Given the description of an element on the screen output the (x, y) to click on. 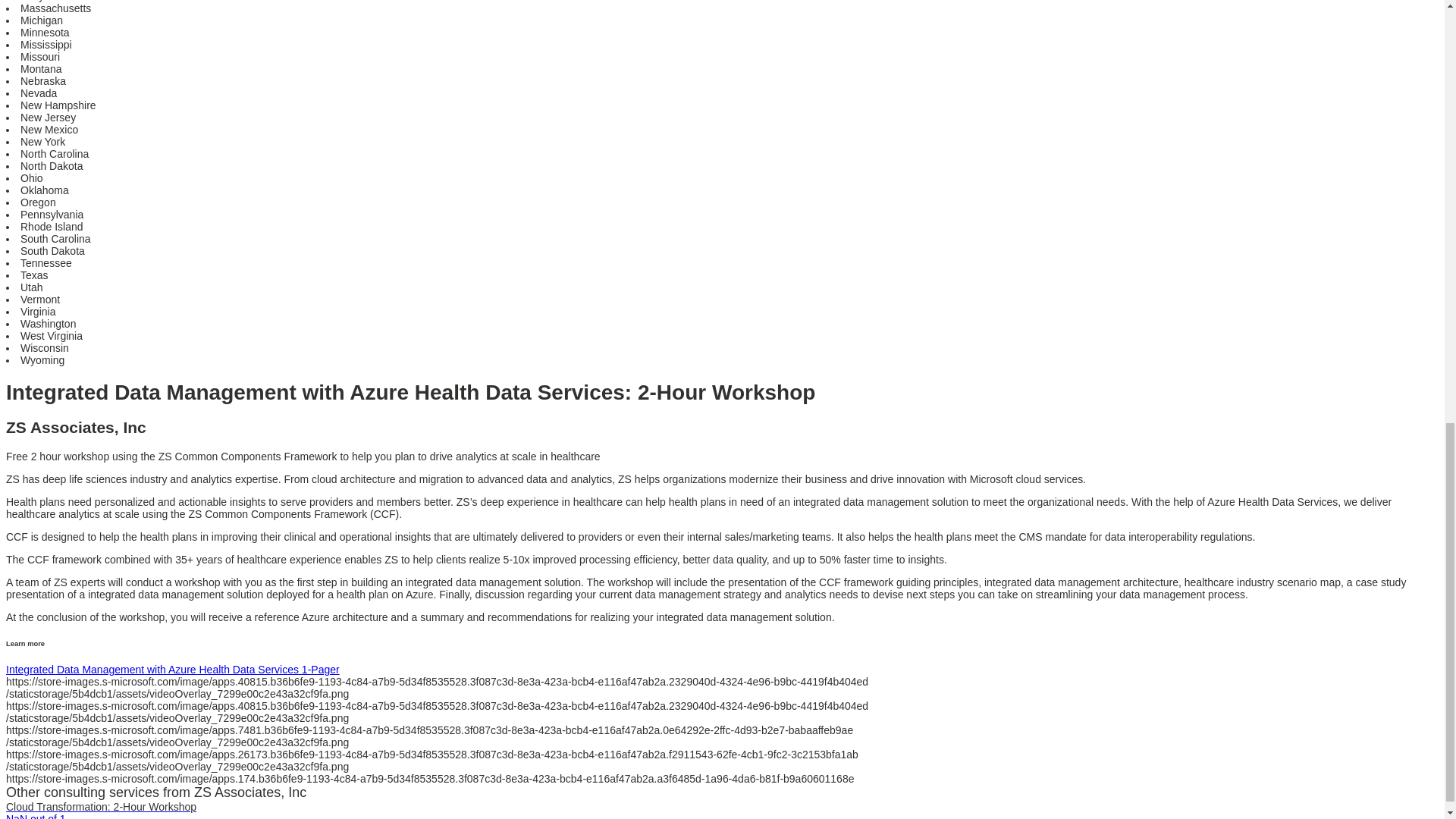
Cloud Transformation: 2-Hour Workshop (100, 806)
